Given the description of an element on the screen output the (x, y) to click on. 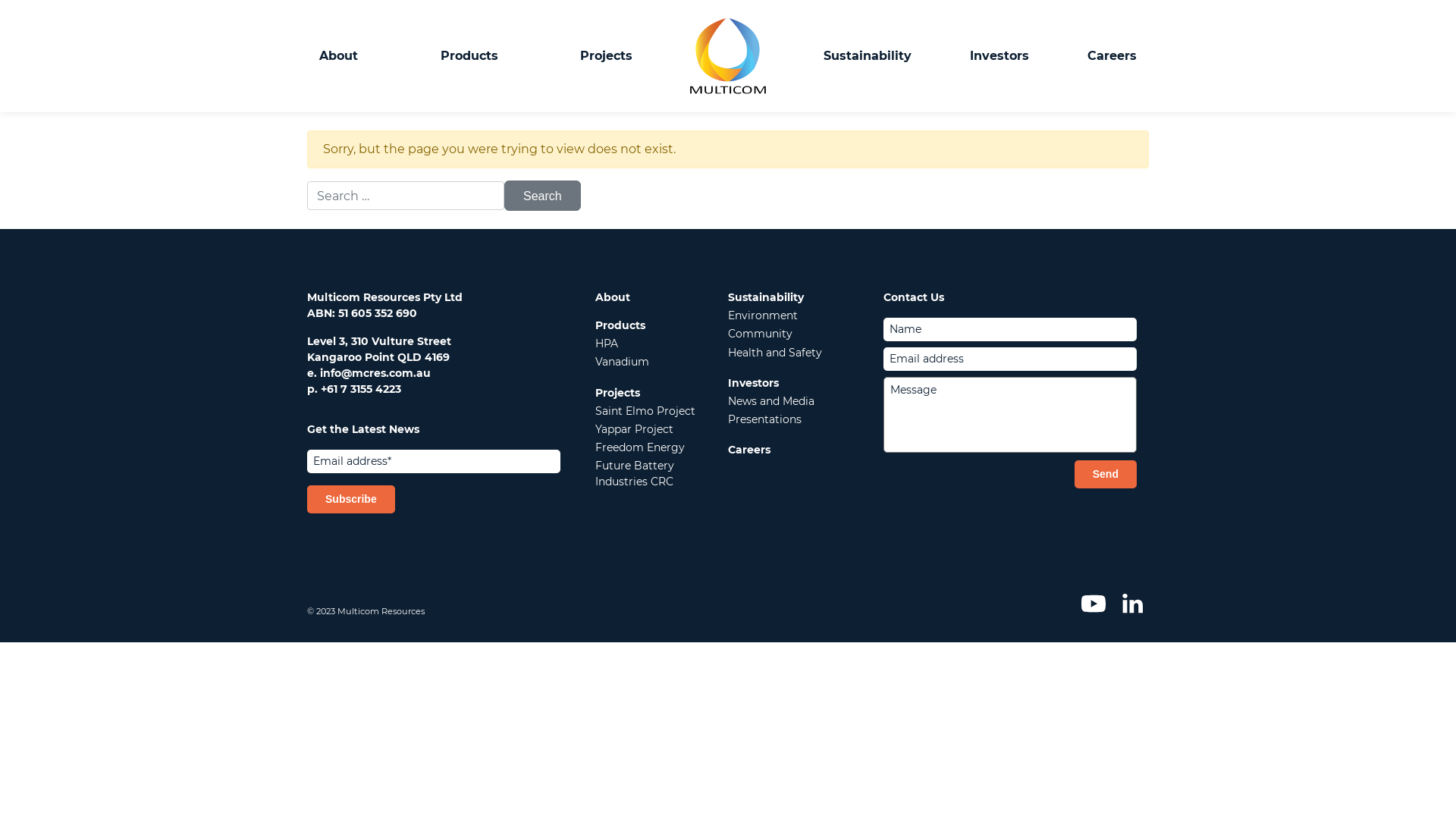
Send Element type: text (1105, 474)
Search Element type: text (542, 195)
News and Media Element type: text (771, 400)
Products Element type: text (620, 325)
Multicom Resources Element type: text (727, 56)
Sustainability Element type: text (765, 297)
Projects Element type: text (606, 56)
Careers Element type: text (749, 449)
Community Element type: text (760, 333)
Freedom Energy Element type: text (639, 447)
Investors Element type: text (753, 382)
Subscribe Element type: text (351, 499)
Investors Element type: text (999, 56)
Health and Safety Element type: text (775, 352)
Vanadium Element type: text (622, 361)
About Element type: text (612, 297)
Projects Element type: text (617, 392)
Sustainability Element type: text (867, 56)
Presentations Element type: text (764, 419)
Yappar Project Element type: text (634, 429)
Future Battery Industries CRC Element type: text (634, 473)
Careers Element type: text (1111, 56)
Environment Element type: text (762, 315)
About Element type: text (338, 56)
Products Element type: text (468, 56)
HPA Element type: text (606, 343)
Saint Elmo Project Element type: text (645, 410)
